Given the description of an element on the screen output the (x, y) to click on. 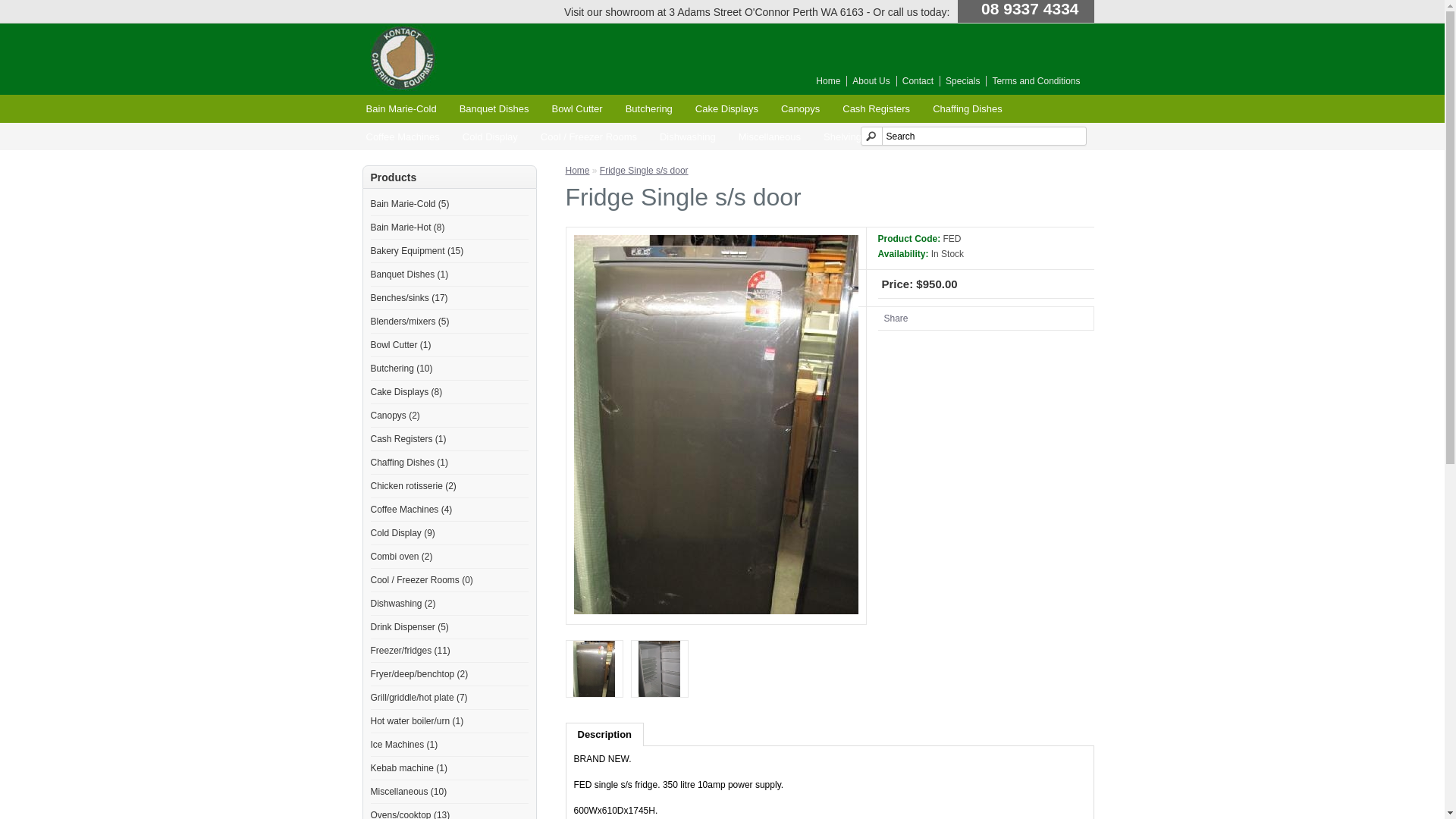
Freezer/fridges (11) Element type: text (409, 650)
Cool / Freezer Rooms Element type: text (588, 136)
Chicken rotisserie (2) Element type: text (412, 485)
Fridge Single s/s door Element type: hover (659, 669)
Dishwashing (2) Element type: text (402, 603)
Fridge Single s/s door Element type: hover (659, 668)
Cake Displays Element type: text (726, 108)
Bowl Cutter Element type: text (576, 108)
Bowl Cutter (1) Element type: text (400, 344)
Canopys Element type: text (800, 108)
Cash Registers Element type: text (876, 108)
Kontact Catering Equipment Element type: hover (404, 58)
Home Element type: text (825, 80)
Drink Dispenser (5) Element type: text (409, 626)
Cool / Freezer Rooms (0) Element type: text (421, 579)
Fridge Single s/s door Element type: hover (594, 669)
Chaffing Dishes Element type: text (967, 108)
Bakery Equipment (15) Element type: text (416, 250)
Dishwashing Element type: text (687, 136)
Combi oven (2) Element type: text (401, 556)
Home Element type: text (577, 170)
Kebab machine (1) Element type: text (408, 767)
Banquet Dishes (1) Element type: text (409, 274)
Cash Registers (1) Element type: text (407, 438)
Ice Machines (1) Element type: text (403, 744)
Butchering (10) Element type: text (401, 368)
Fryer/deep/benchtop (2) Element type: text (418, 673)
Bain Marie-Cold Element type: text (401, 108)
Shelving Element type: text (842, 136)
Coffee Machines Element type: text (402, 136)
Fridge Single s/s door Element type: text (643, 170)
Blenders/mixers (5) Element type: text (409, 321)
Butchering Element type: text (649, 108)
Miscellaneous Element type: text (769, 136)
Terms and Conditions Element type: text (1032, 80)
Chaffing Dishes (1) Element type: text (409, 462)
Share Element type: text (896, 318)
Cake Displays (8) Element type: text (406, 391)
Fridge Single s/s door Element type: hover (594, 668)
Specials Element type: text (959, 80)
Benches/sinks (17) Element type: text (408, 297)
Fridge Single s/s door Element type: hover (715, 424)
Banquet Dishes Element type: text (494, 108)
Miscellaneous (10) Element type: text (408, 791)
Canopys (2) Element type: text (394, 415)
Contact Element type: text (914, 80)
Bain Marie-Hot (8) Element type: text (407, 227)
Cold Display (9) Element type: text (402, 532)
Grill/griddle/hot plate (7) Element type: text (418, 697)
Fridge Single s/s door Element type: hover (715, 610)
Search Element type: text (972, 135)
About Us Element type: text (867, 80)
Bain Marie-Cold (5) Element type: text (409, 203)
Description Element type: text (604, 734)
Coffee Machines (4) Element type: text (410, 509)
Cold Display Element type: text (490, 136)
Hot water boiler/urn (1) Element type: text (416, 720)
